Given the description of an element on the screen output the (x, y) to click on. 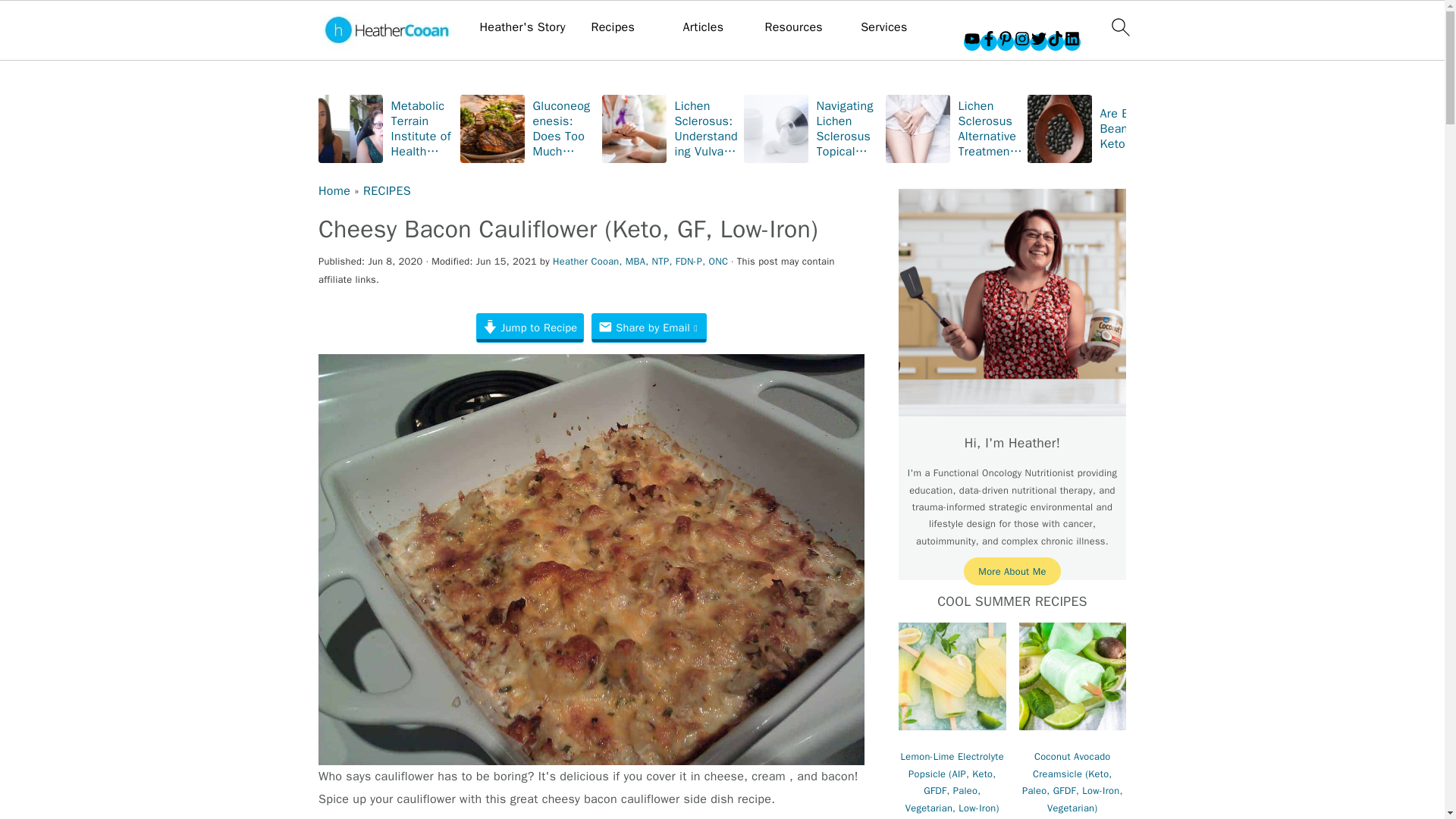
Recipes (612, 26)
Heather's Story (523, 26)
Resources (793, 26)
search icon (1119, 26)
Services (883, 26)
Articles (702, 26)
